Given the description of an element on the screen output the (x, y) to click on. 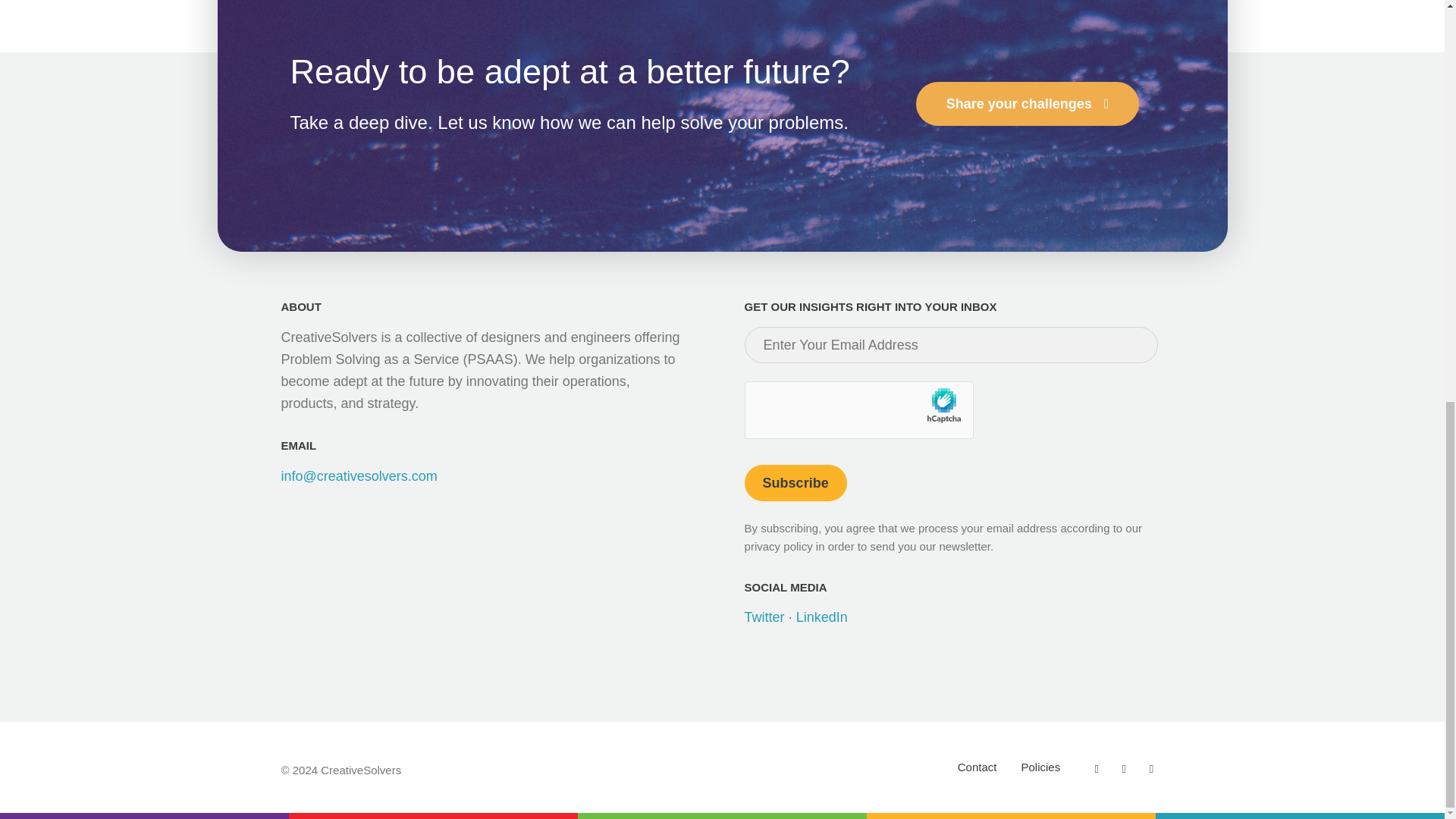
Share your challenges (1027, 103)
Twitter (764, 616)
Policies (1040, 767)
Subscribe (795, 483)
Subscribe (795, 483)
Contact (976, 767)
LinkedIn (821, 616)
